Given the description of an element on the screen output the (x, y) to click on. 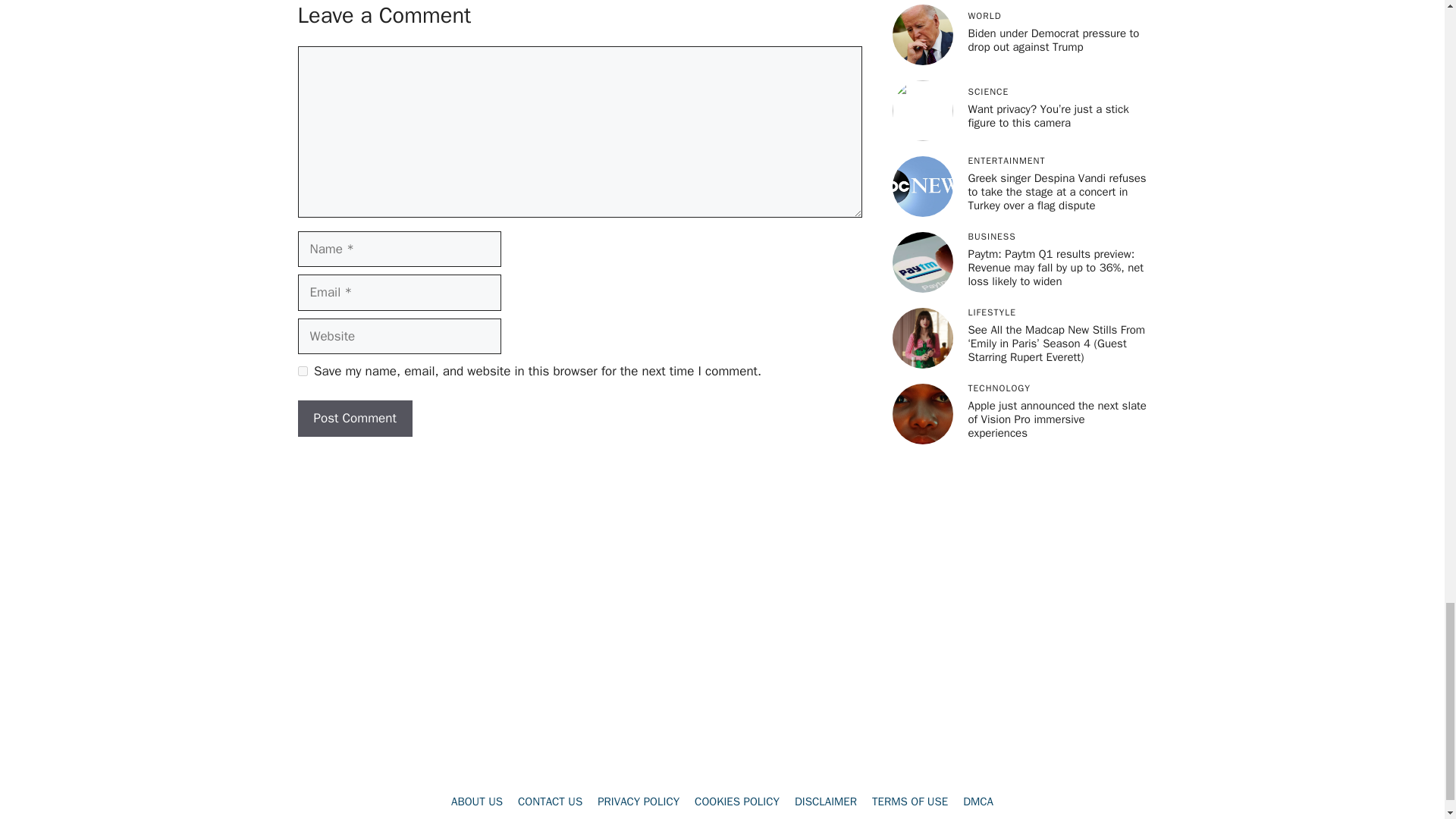
Post Comment (354, 418)
Post Comment (354, 418)
yes (302, 370)
Advertisement (721, 516)
